Given the description of an element on the screen output the (x, y) to click on. 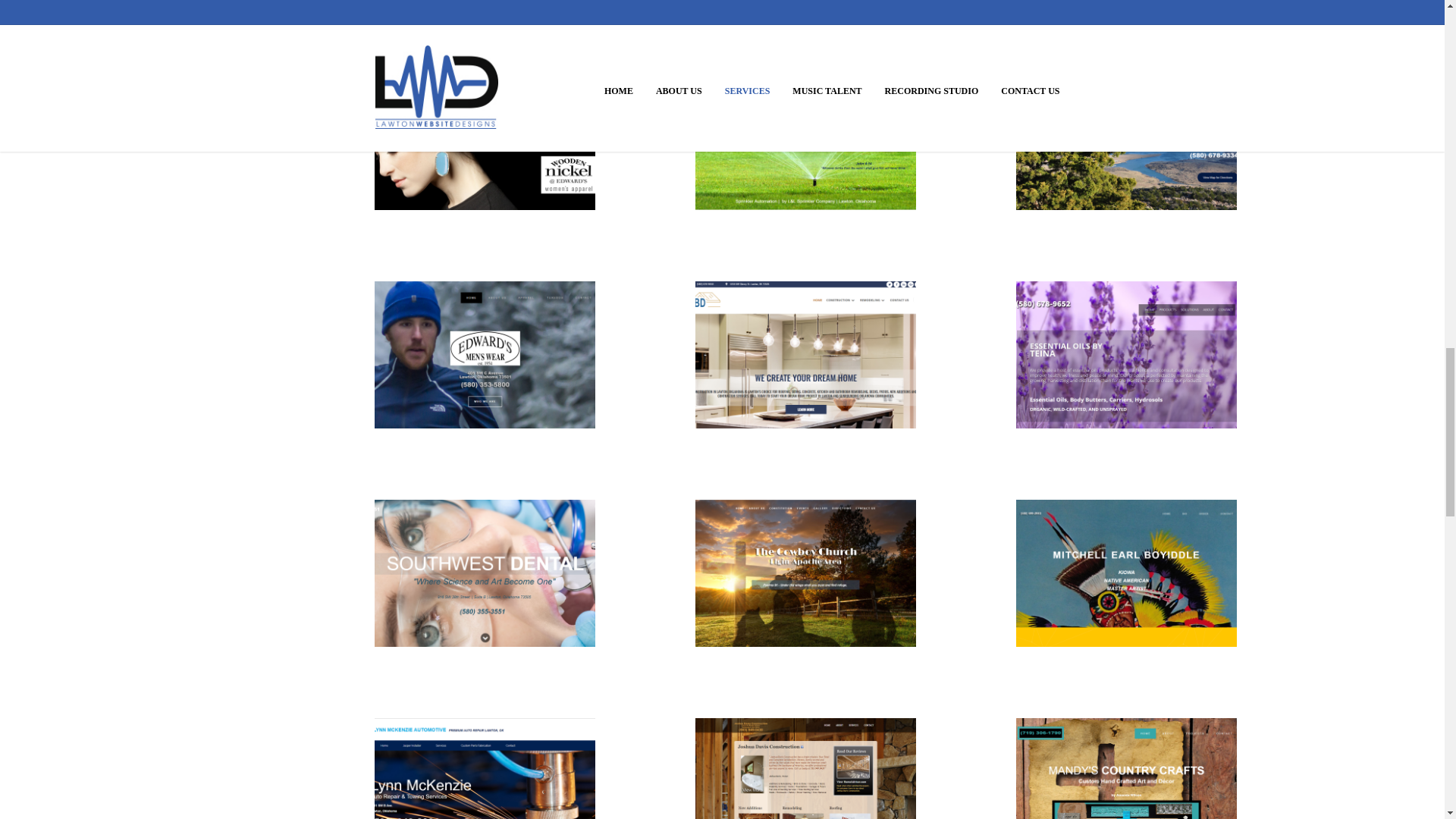
CLIENT 4 (484, 136)
CLIENT 8 (805, 354)
CLIENT 14 (805, 768)
CLIENT 13 (484, 768)
CLIENT 10 (484, 573)
CLIENT 6 (1126, 136)
CLIENT 7 (484, 354)
CLIENT 5 (805, 136)
CLIENT 12 (1126, 573)
CLIENT 9 (1126, 354)
CLIENT 15 (1126, 768)
CLIENT 11 (805, 573)
